Given the description of an element on the screen output the (x, y) to click on. 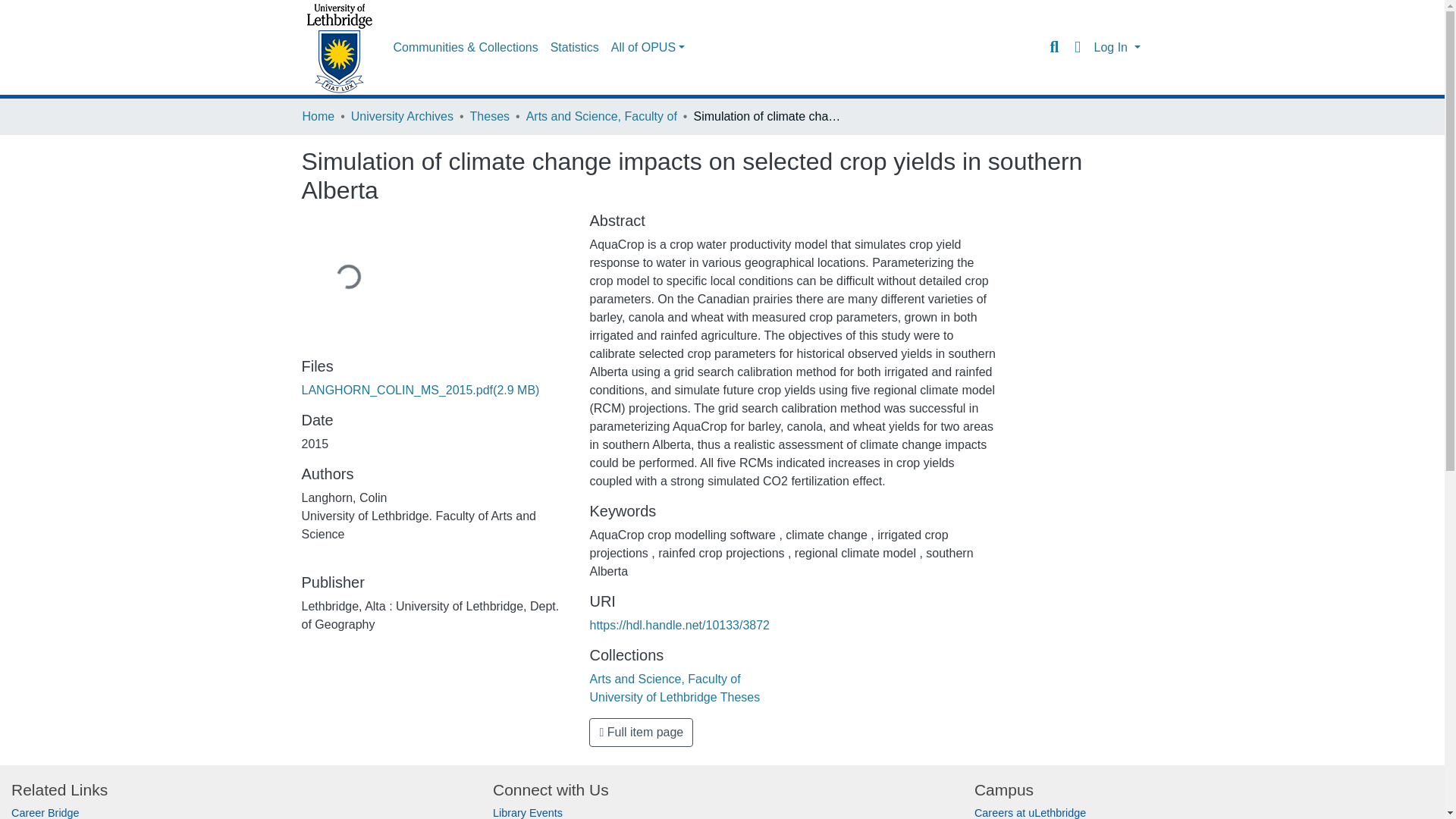
Career Bridge (45, 812)
Careers at uLethbridge (1030, 812)
Statistics (574, 47)
Statistics (574, 47)
University Archives (401, 116)
Log In (1116, 47)
Arts and Science, Faculty of (601, 116)
Home (317, 116)
All of OPUS (647, 47)
Full item page (641, 732)
